Given the description of an element on the screen output the (x, y) to click on. 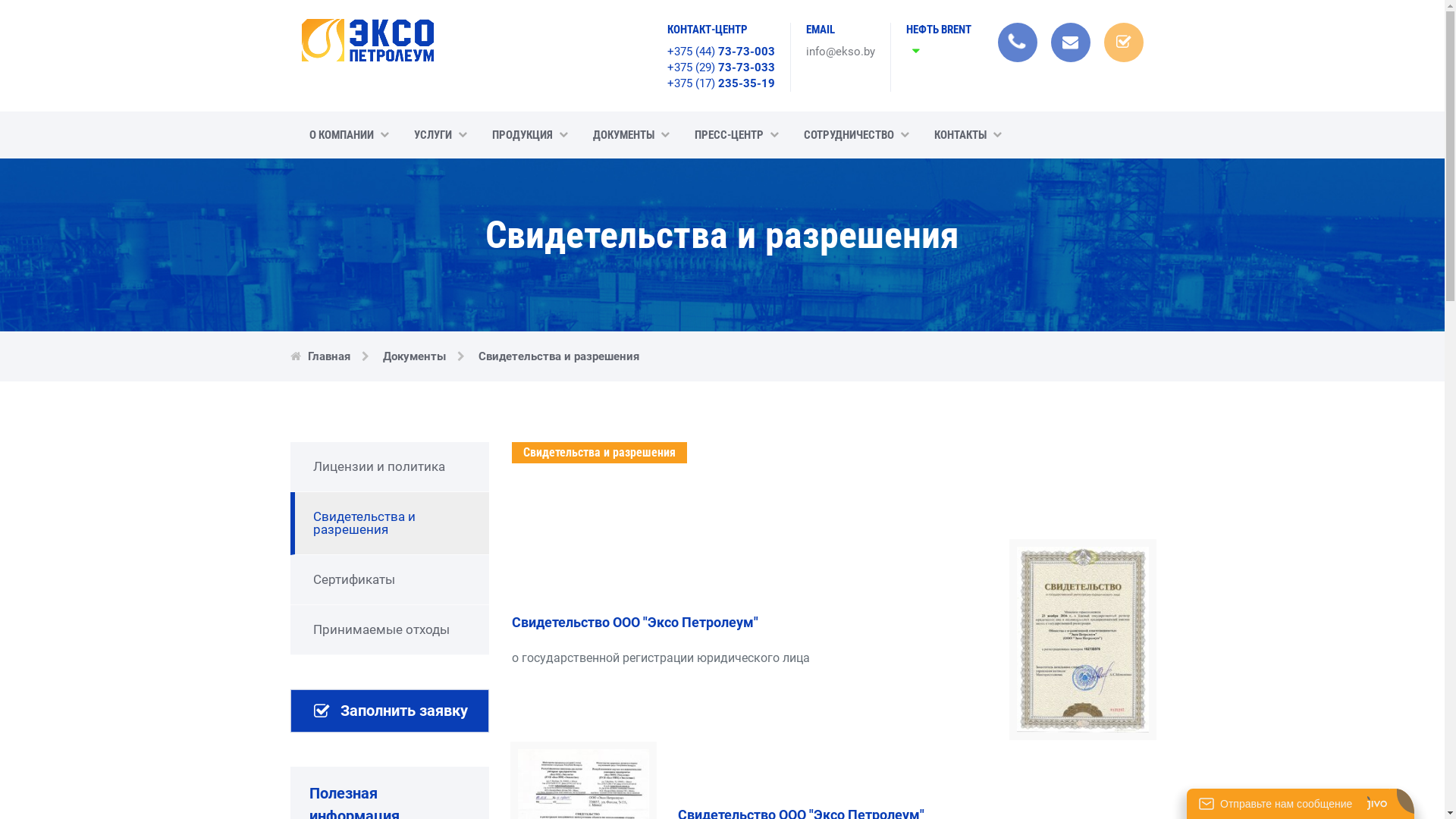
+375 (44) 73-73-003 Element type: text (721, 51)
+375 (29) 73-73-033 Element type: text (721, 67)
+375 (17) 235-35-19 Element type: text (721, 83)
